Given the description of an element on the screen output the (x, y) to click on. 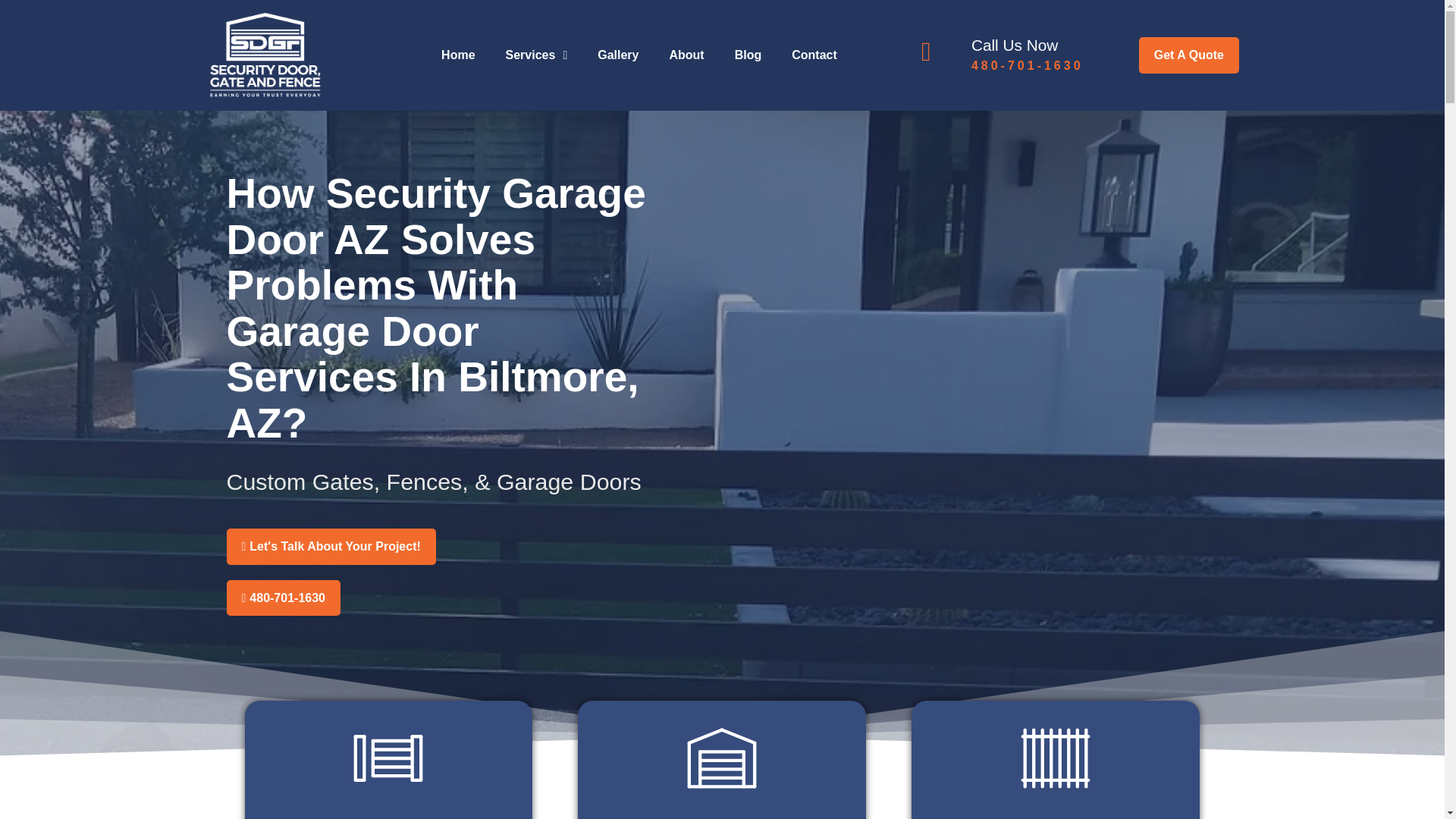
About (686, 54)
Home (457, 54)
Contact (813, 54)
Blog (748, 54)
Services (536, 54)
Gallery (617, 54)
